Given the description of an element on the screen output the (x, y) to click on. 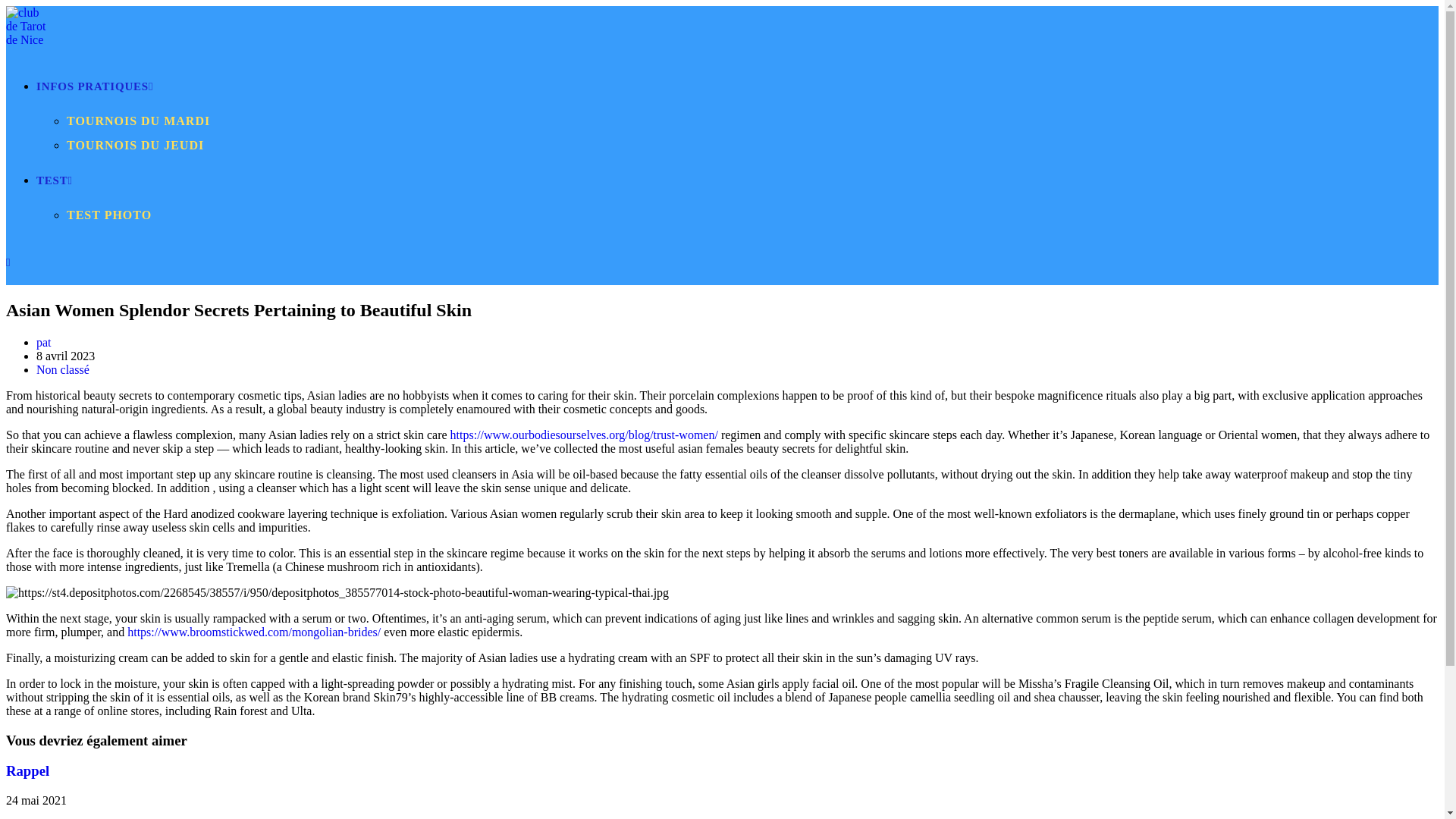
TEST PHOTO (108, 214)
TOURNOIS DU JEUDI (134, 144)
TOURNOIS DU MARDI (137, 120)
INFOS PRATIQUES (94, 86)
Rappel (27, 770)
Articles par pat (43, 341)
TEST (54, 180)
pat (43, 341)
